Given the description of an element on the screen output the (x, y) to click on. 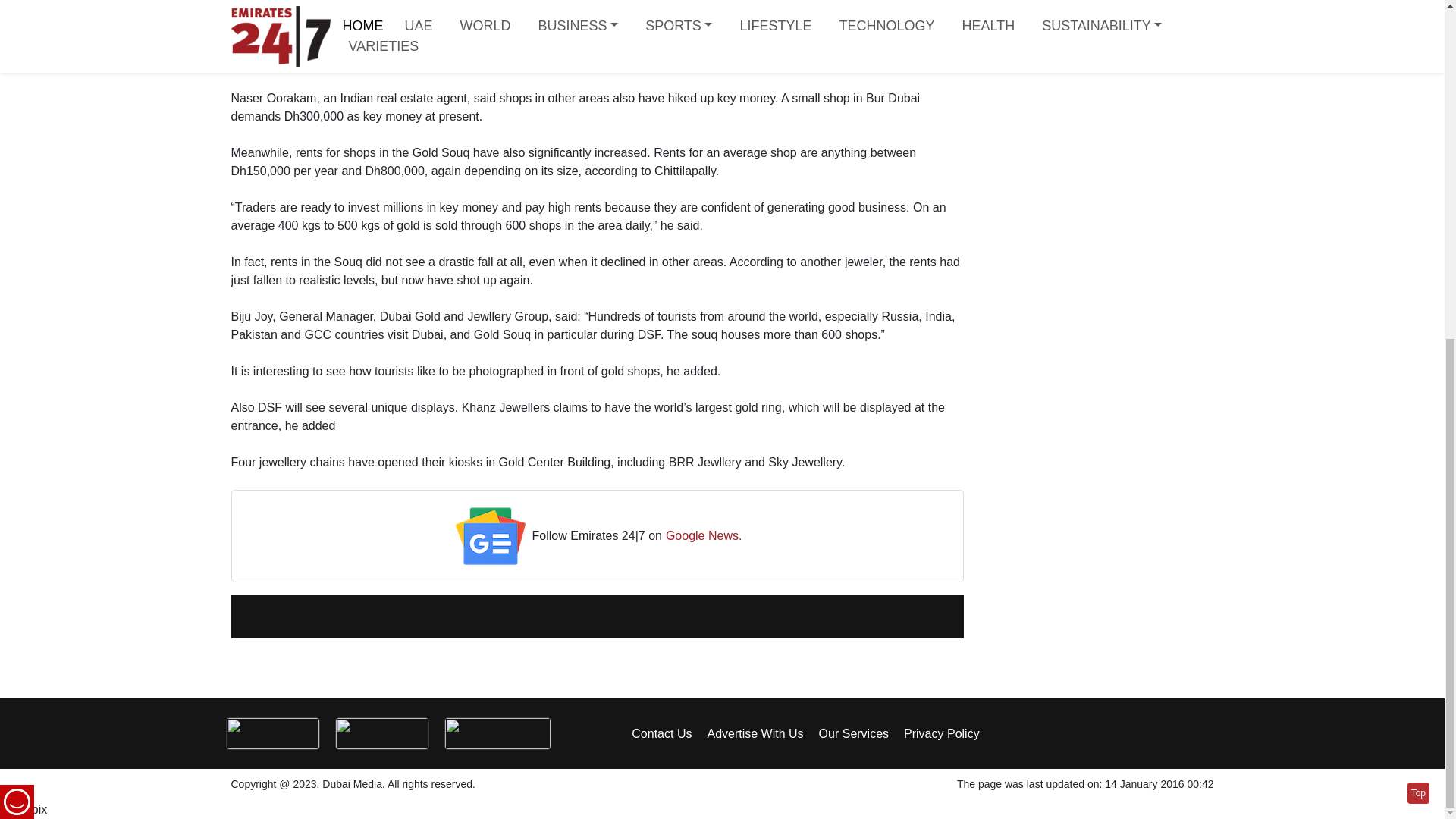
Google News. (703, 536)
Go to top (1418, 219)
